Given the description of an element on the screen output the (x, y) to click on. 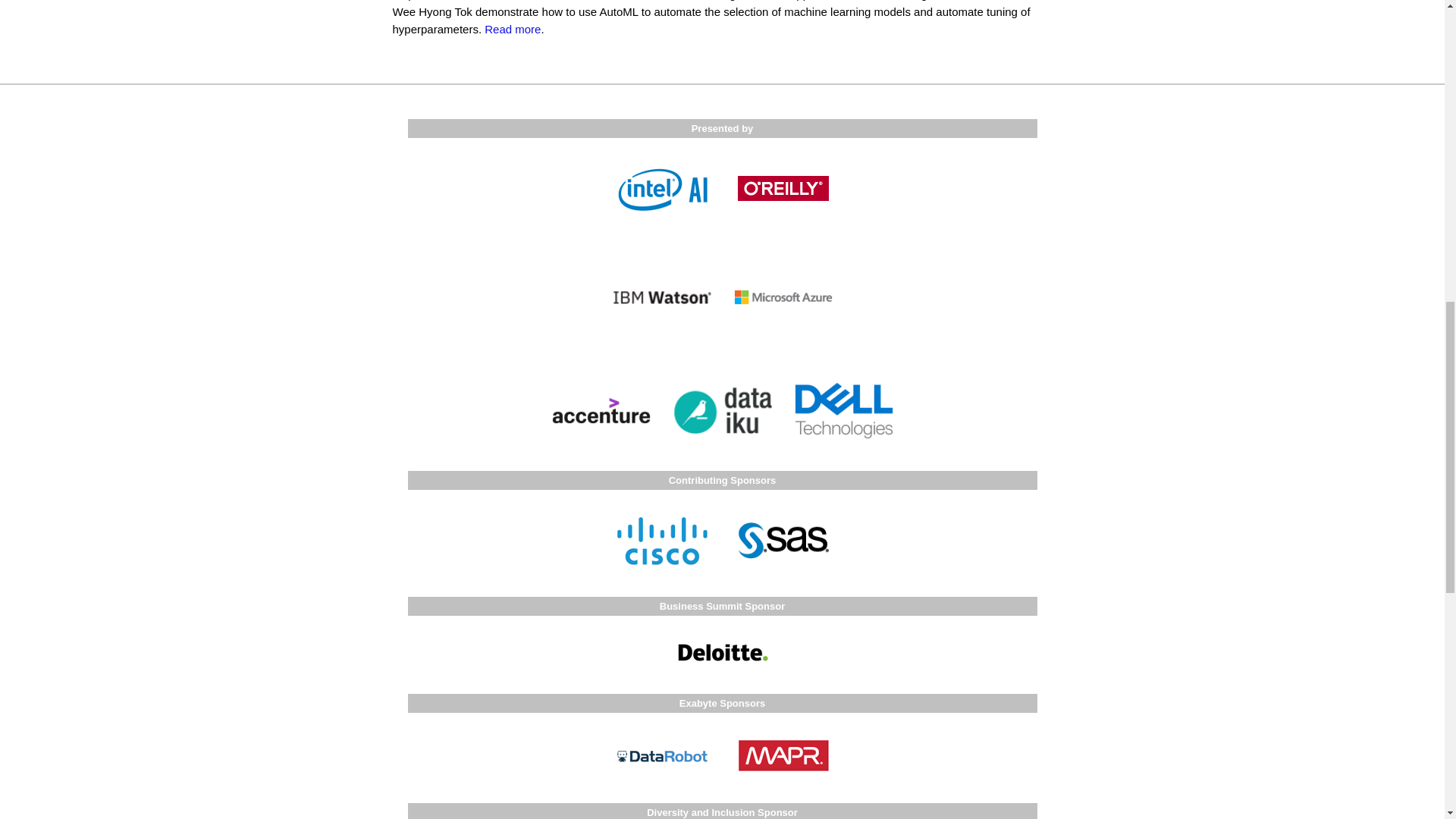
Read more (512, 29)
